Given the description of an element on the screen output the (x, y) to click on. 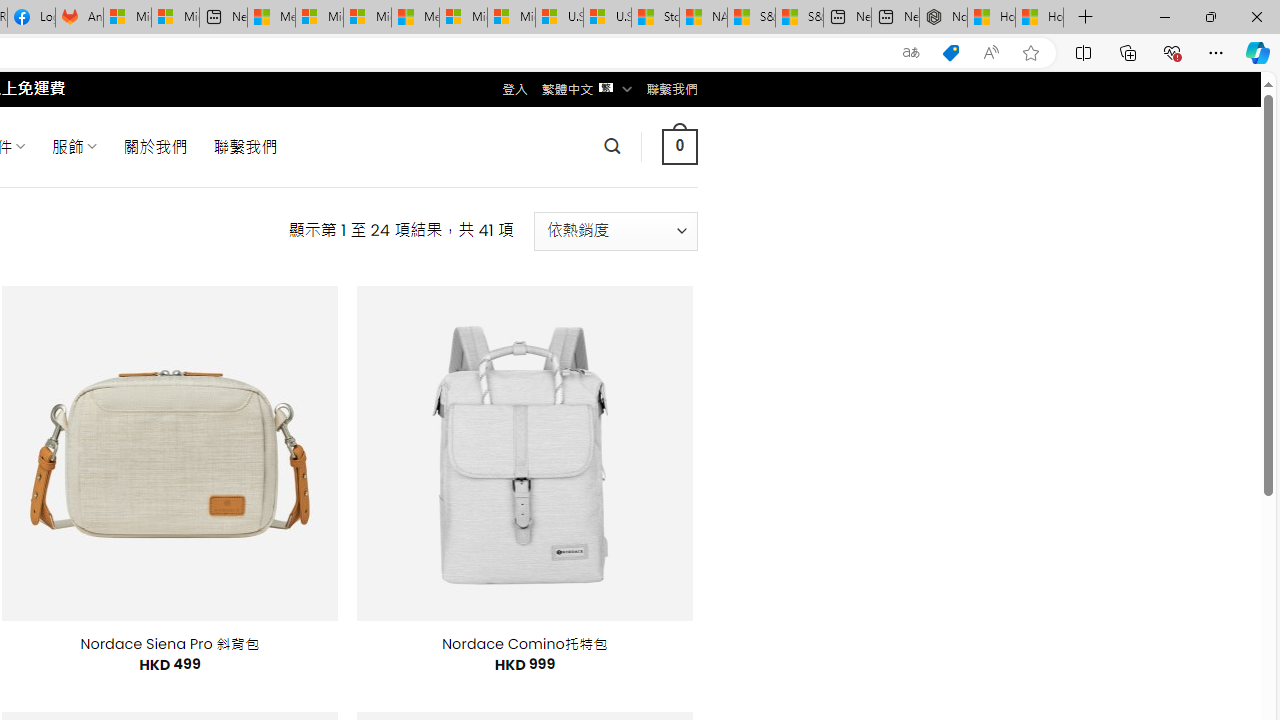
Microsoft account | Home (367, 17)
